Given the description of an element on the screen output the (x, y) to click on. 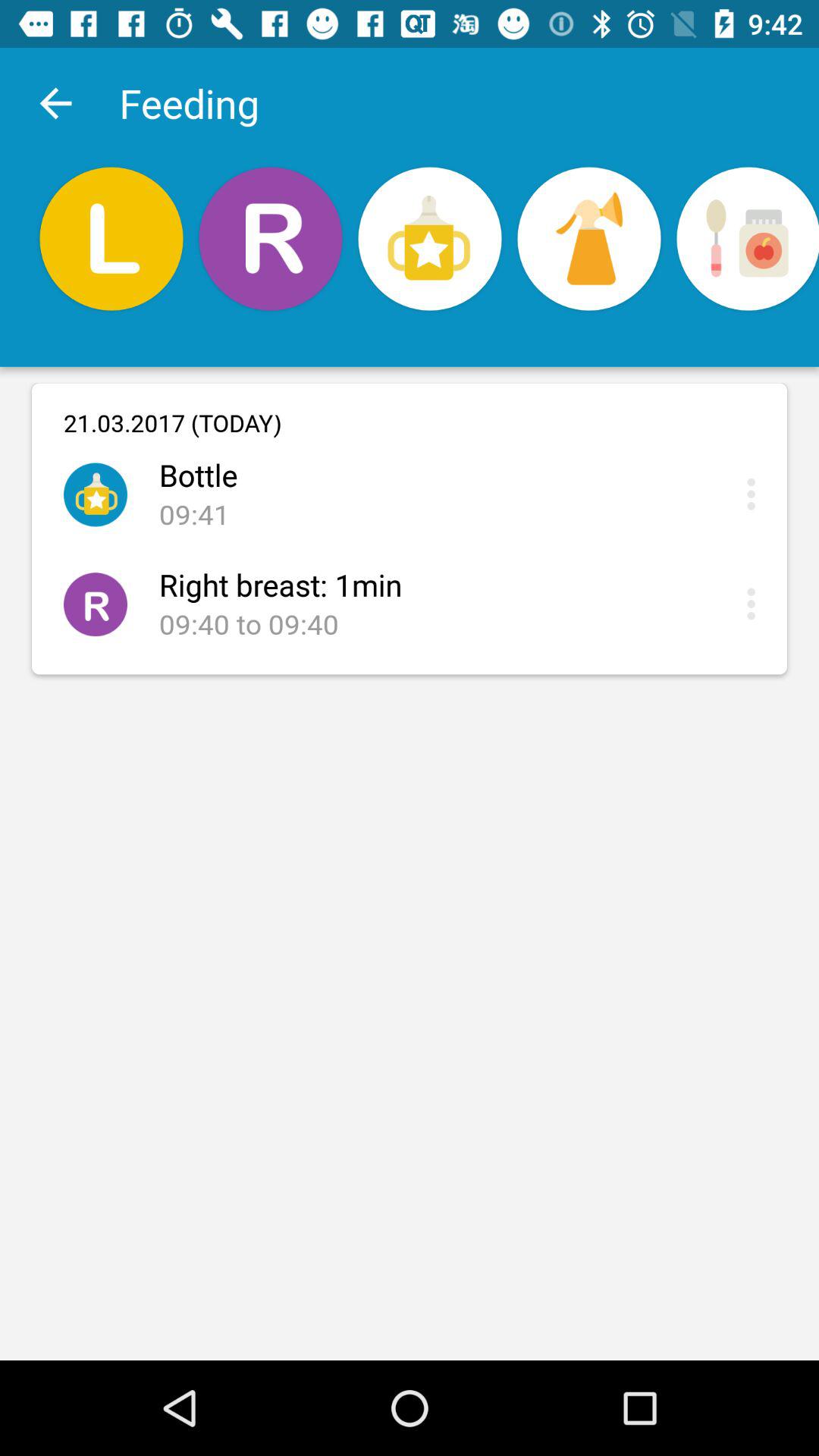
open the sub-menu for this item (755, 493)
